Given the description of an element on the screen output the (x, y) to click on. 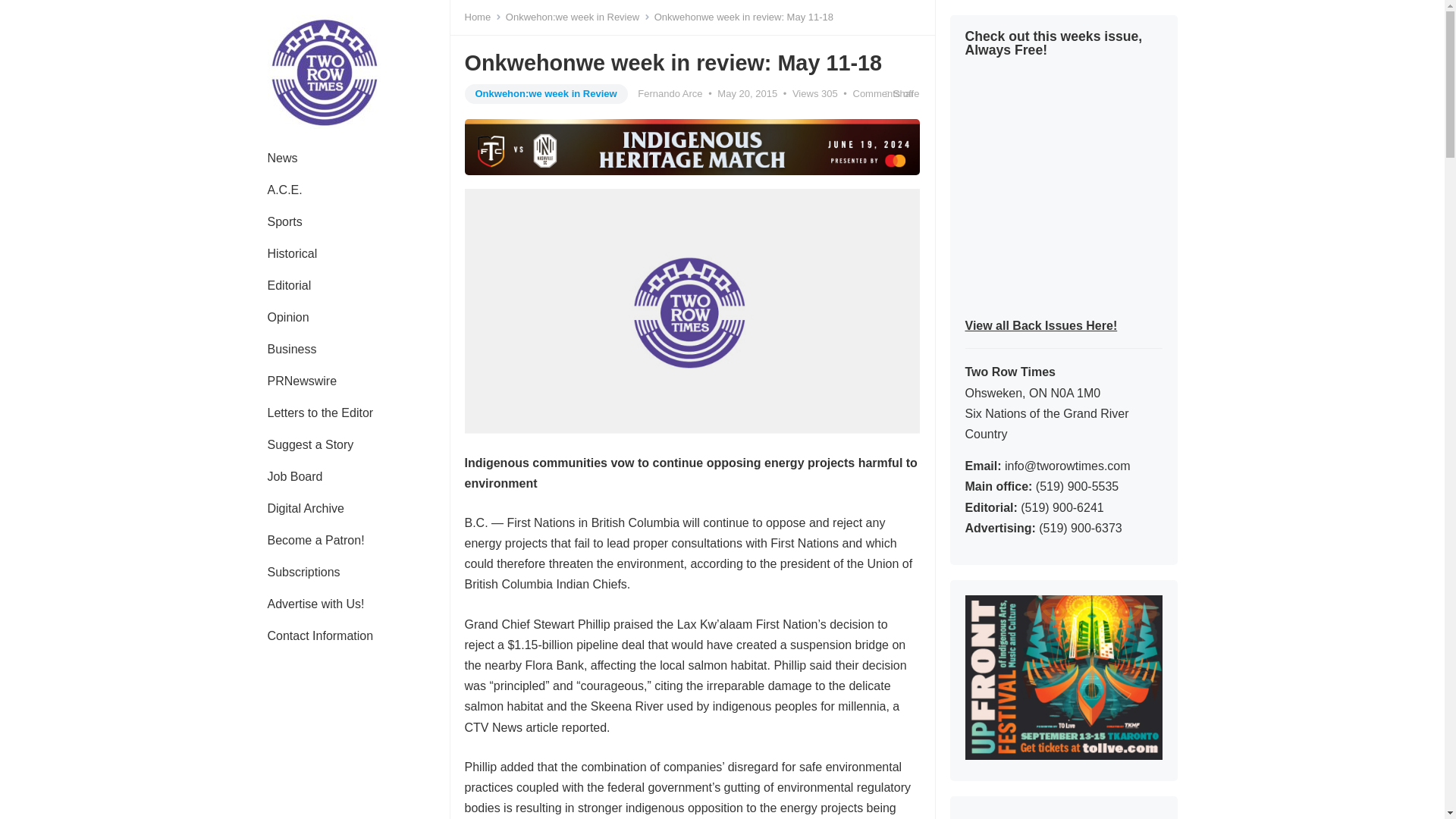
PRNewswire (301, 381)
Home (482, 16)
Sports (284, 222)
A.C.E. (284, 190)
Letters to the Editor (319, 413)
Posts by Fernando Arce (669, 93)
Suggest a Story (309, 445)
Digital Archive (304, 508)
Editorial (288, 286)
Subscriptions (303, 572)
Become a Patron! (314, 540)
Job Board (294, 477)
Business (291, 349)
Contact Information (319, 635)
Advertise with Us! (314, 603)
